Given the description of an element on the screen output the (x, y) to click on. 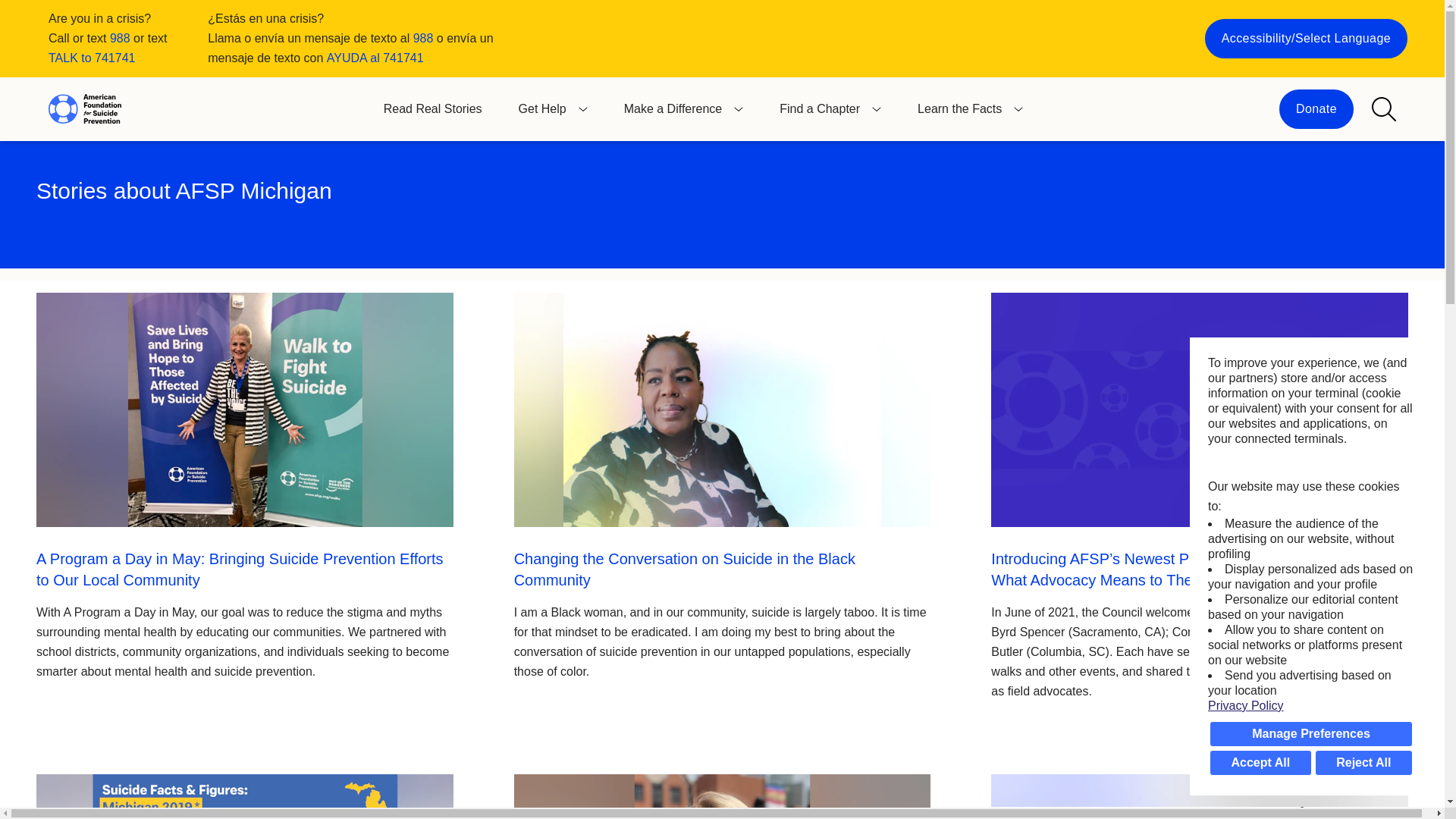
Manage Preferences (1310, 733)
Accept All (1260, 762)
Privacy Policy (1310, 705)
Reject All (1363, 762)
988 (120, 38)
988 (423, 38)
AYUDA al 741741 (374, 57)
TALK to 741741 (91, 57)
